Given the description of an element on the screen output the (x, y) to click on. 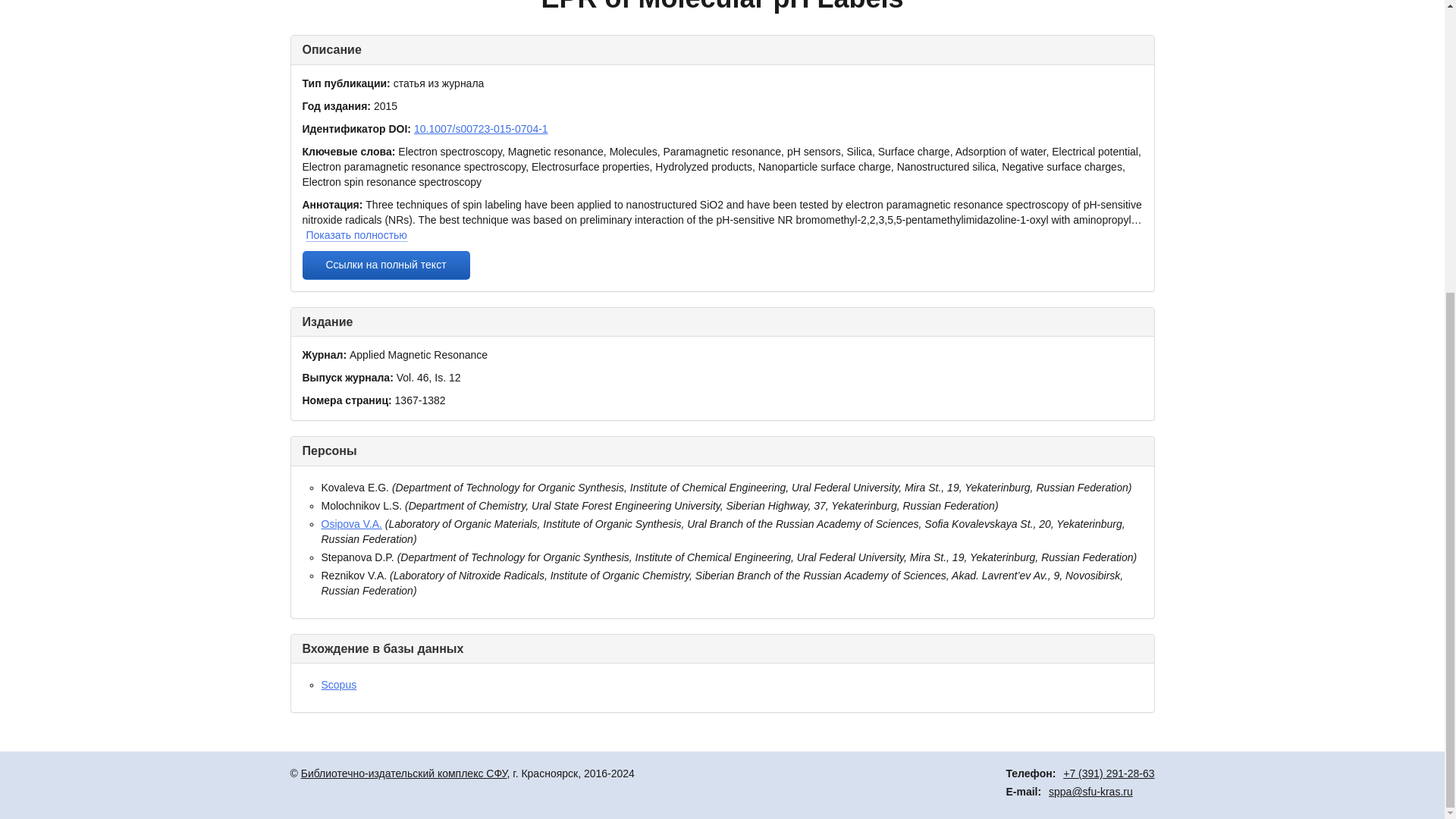
Osipova V.A. (351, 523)
Scopus (338, 684)
